Given the description of an element on the screen output the (x, y) to click on. 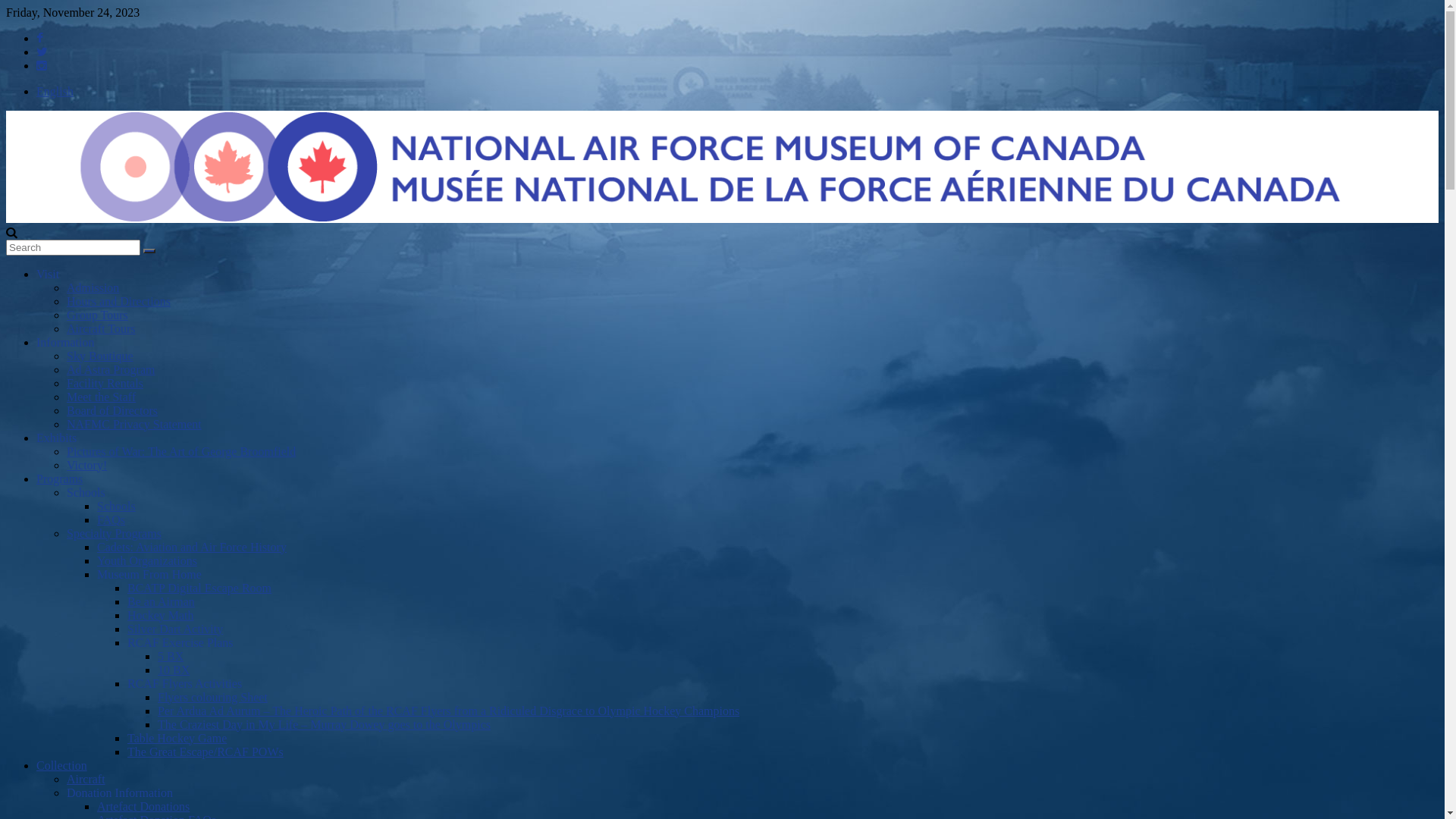
Skip to content Element type: text (5, 5)
Aircraft Element type: text (85, 778)
Schools Element type: text (85, 492)
FAQs Element type: text (111, 519)
5 BX Element type: text (170, 655)
Programs Element type: text (59, 478)
Artefact Donations Element type: text (143, 806)
Meet the Staff Element type: text (100, 396)
Be an Airman Element type: text (160, 601)
Aircraft Tours Element type: text (100, 328)
Table Hockey Game Element type: text (176, 737)
Hours and Directions Element type: text (118, 300)
Ad Astra Program Element type: text (110, 369)
BCATP Digital Escape Room Element type: text (199, 587)
Silver Dart Activity Element type: text (174, 628)
Facility Rentals Element type: text (104, 382)
Collection Element type: text (61, 765)
10 BX Element type: text (173, 669)
Donation Information Element type: text (119, 792)
National Air Force Museum of Canada Element type: hover (722, 218)
Museum From Home Element type: text (149, 573)
RCAF Flyers Activities Element type: text (184, 683)
Schools Element type: text (116, 505)
Sky Boutique Element type: text (99, 355)
English Element type: text (54, 90)
Visit Element type: text (47, 273)
The Great Escape/RCAF POWs Element type: text (205, 751)
Exhibits Element type: text (56, 437)
Admission Element type: text (92, 287)
Youth Organizations Element type: text (147, 560)
Cadets: Aviation and Air Force History Element type: text (191, 546)
Information Element type: text (65, 341)
NAFMC Privacy Statement Element type: text (133, 423)
Victory! Element type: text (86, 464)
Board of Directors Element type: text (111, 410)
Pictures of War: The Art of George Broomfield Element type: text (180, 451)
Hockey Math Element type: text (160, 614)
Flyers colouring Sheet Element type: text (212, 696)
Group Tours Element type: text (97, 314)
RCAF Exercise Plans Element type: text (180, 642)
Specialty Programs Element type: text (113, 533)
